Given the description of an element on the screen output the (x, y) to click on. 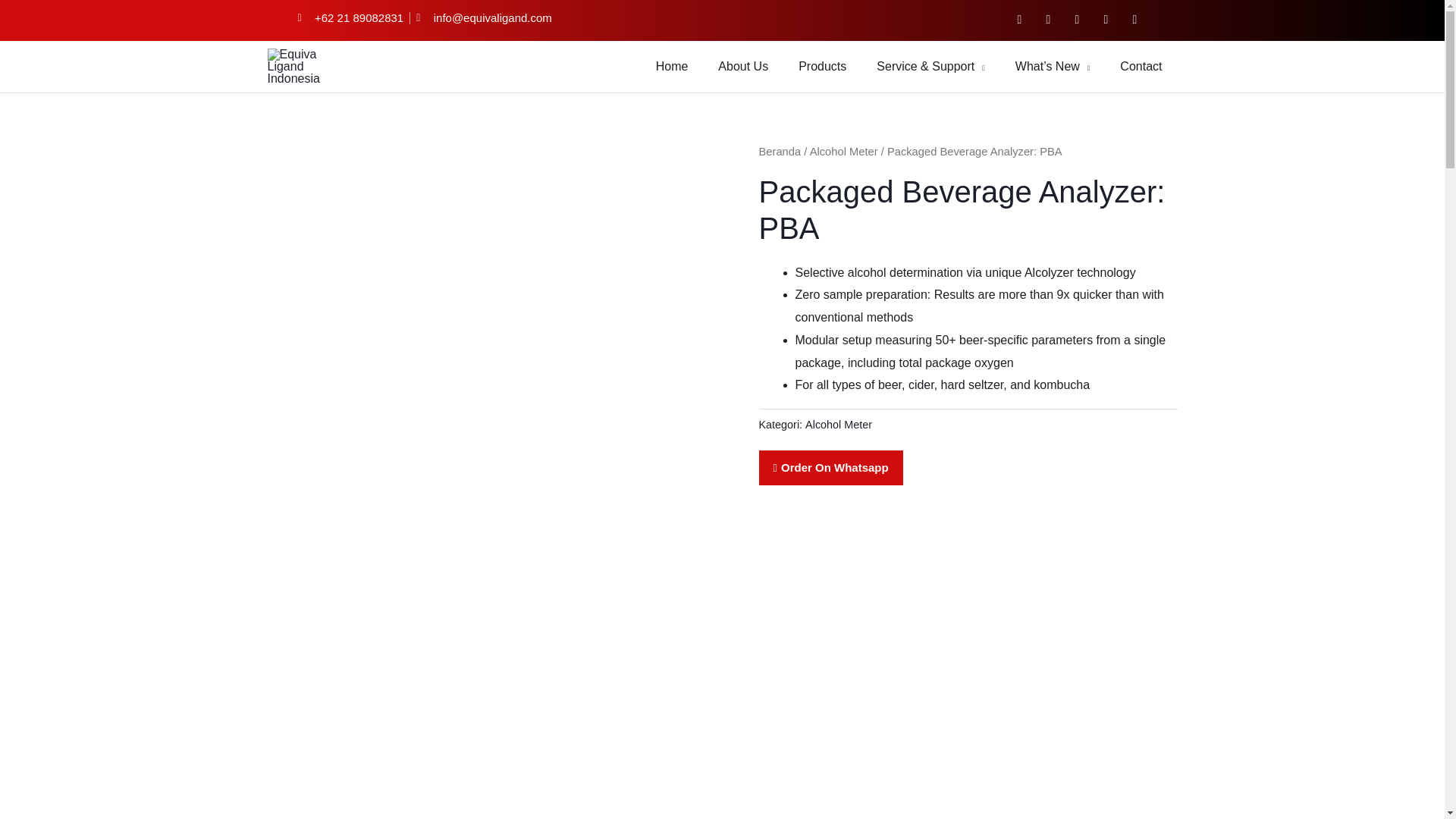
About Us (743, 66)
Beranda (779, 151)
Instagram (1076, 19)
Home (671, 66)
Contact (1140, 66)
Products (822, 66)
Linkedin (1105, 19)
Twitter (1047, 19)
Youtube (1134, 19)
Facebook (1018, 19)
